Given the description of an element on the screen output the (x, y) to click on. 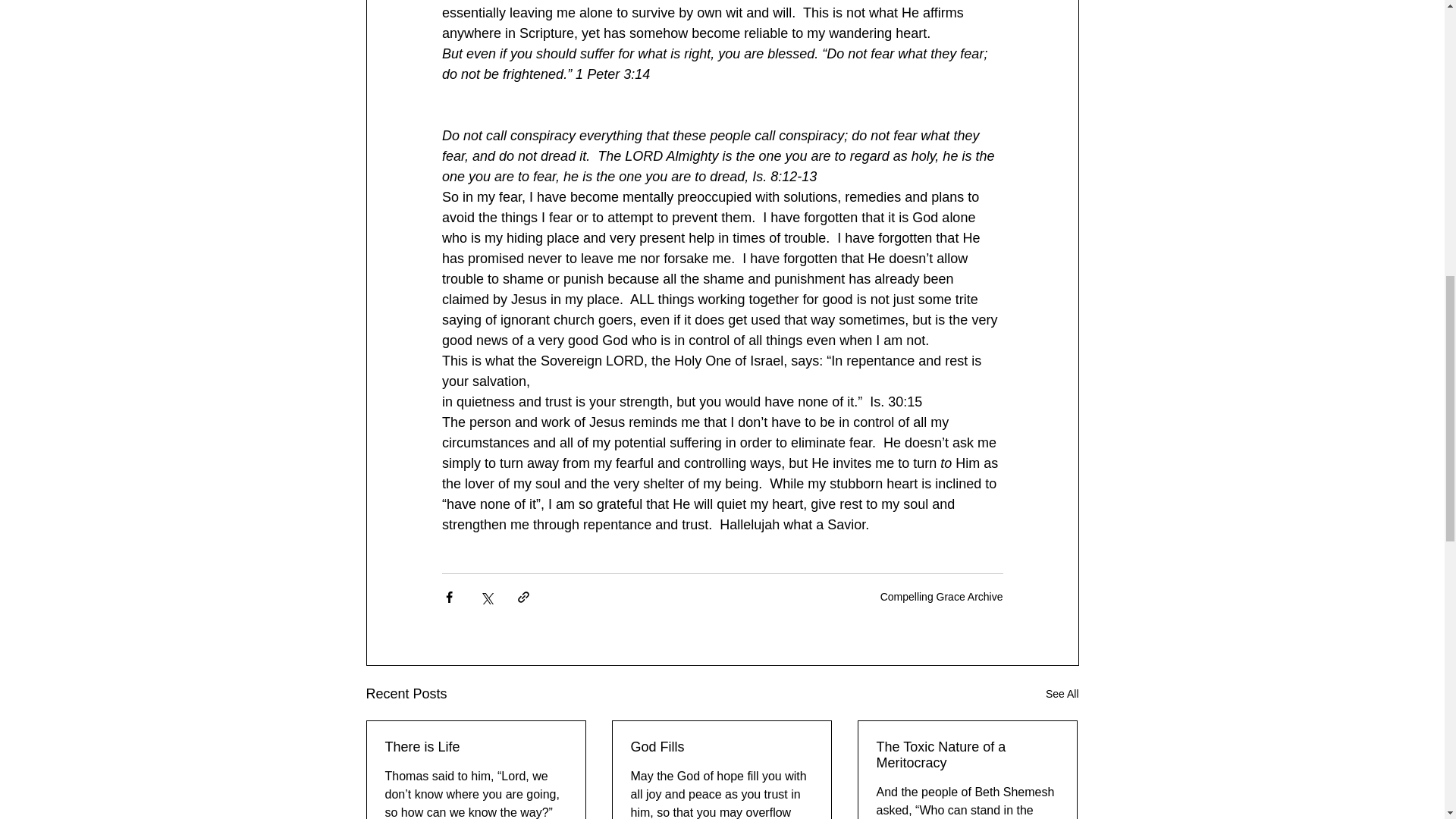
Compelling Grace Archive (941, 595)
See All (1061, 694)
God Fills (721, 747)
There is Life (476, 747)
The Toxic Nature of a Meritocracy (967, 755)
